Given the description of an element on the screen output the (x, y) to click on. 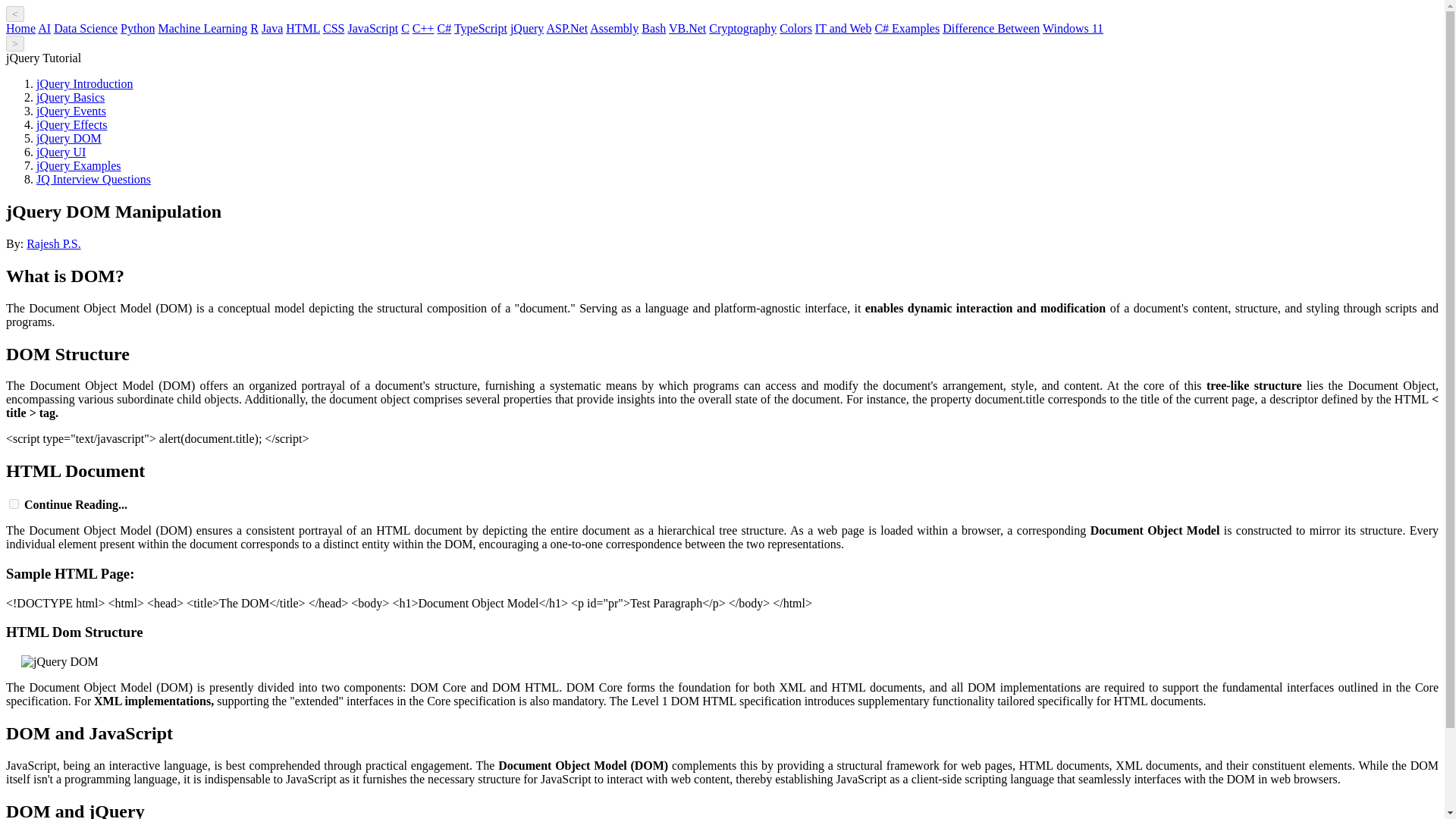
jQuery UI (60, 151)
VB.Net (687, 28)
JQ Interview Questions (93, 178)
ASP.Net (567, 28)
jQuery Introduction (84, 83)
Difference Between (990, 28)
IT and Web (843, 28)
Java (272, 28)
AI (43, 28)
jQuery Effects (71, 124)
